Given the description of an element on the screen output the (x, y) to click on. 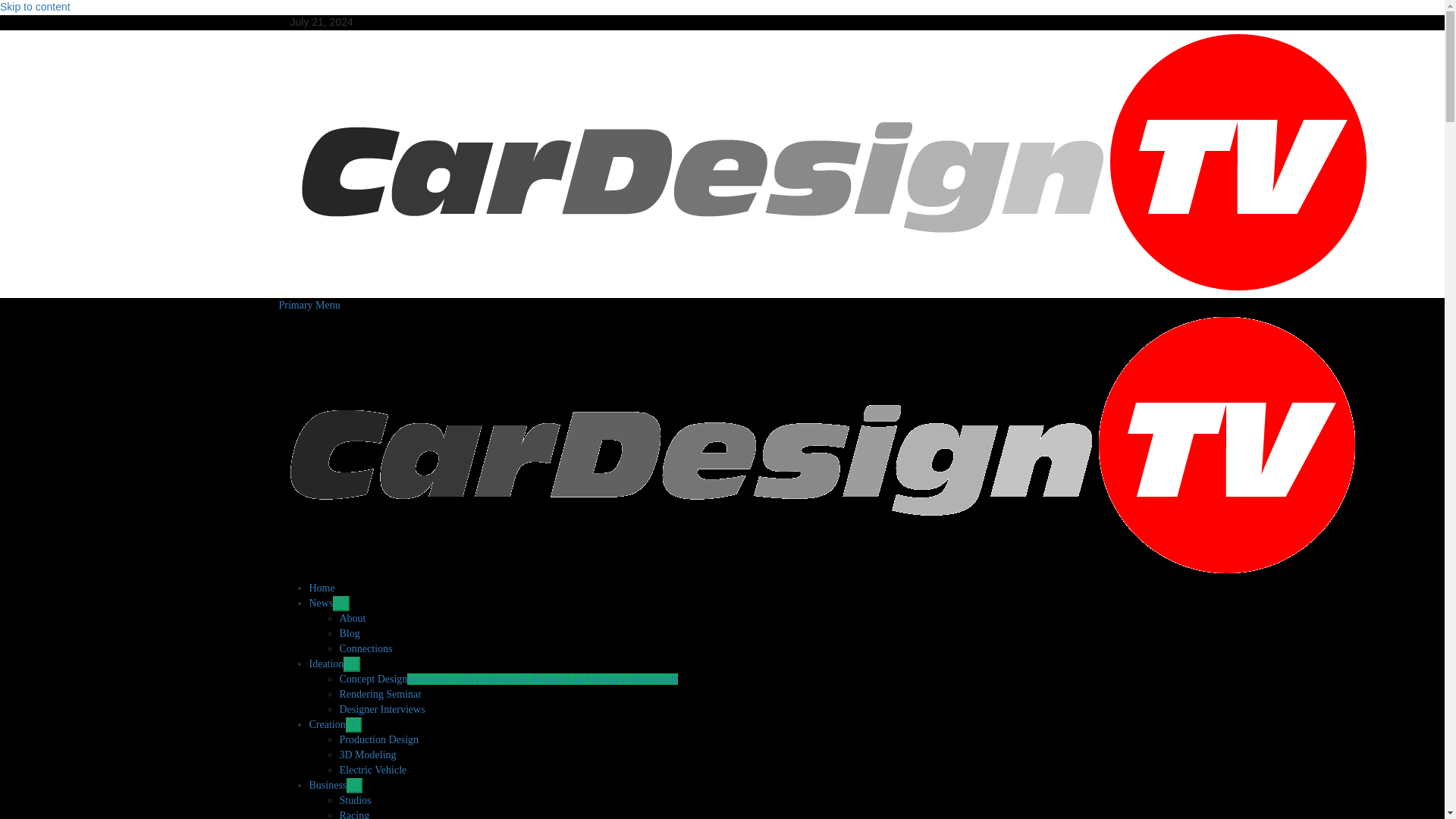
Skip to content (34, 6)
Production Design (379, 739)
Studios (355, 799)
Racing (354, 814)
Connections (366, 648)
About (352, 618)
Business (335, 785)
Creation (334, 724)
Blog (349, 633)
Electric Vehicle (373, 769)
Primary Menu (309, 305)
Ideation (333, 663)
News (328, 603)
3D Modeling (367, 754)
